Given the description of an element on the screen output the (x, y) to click on. 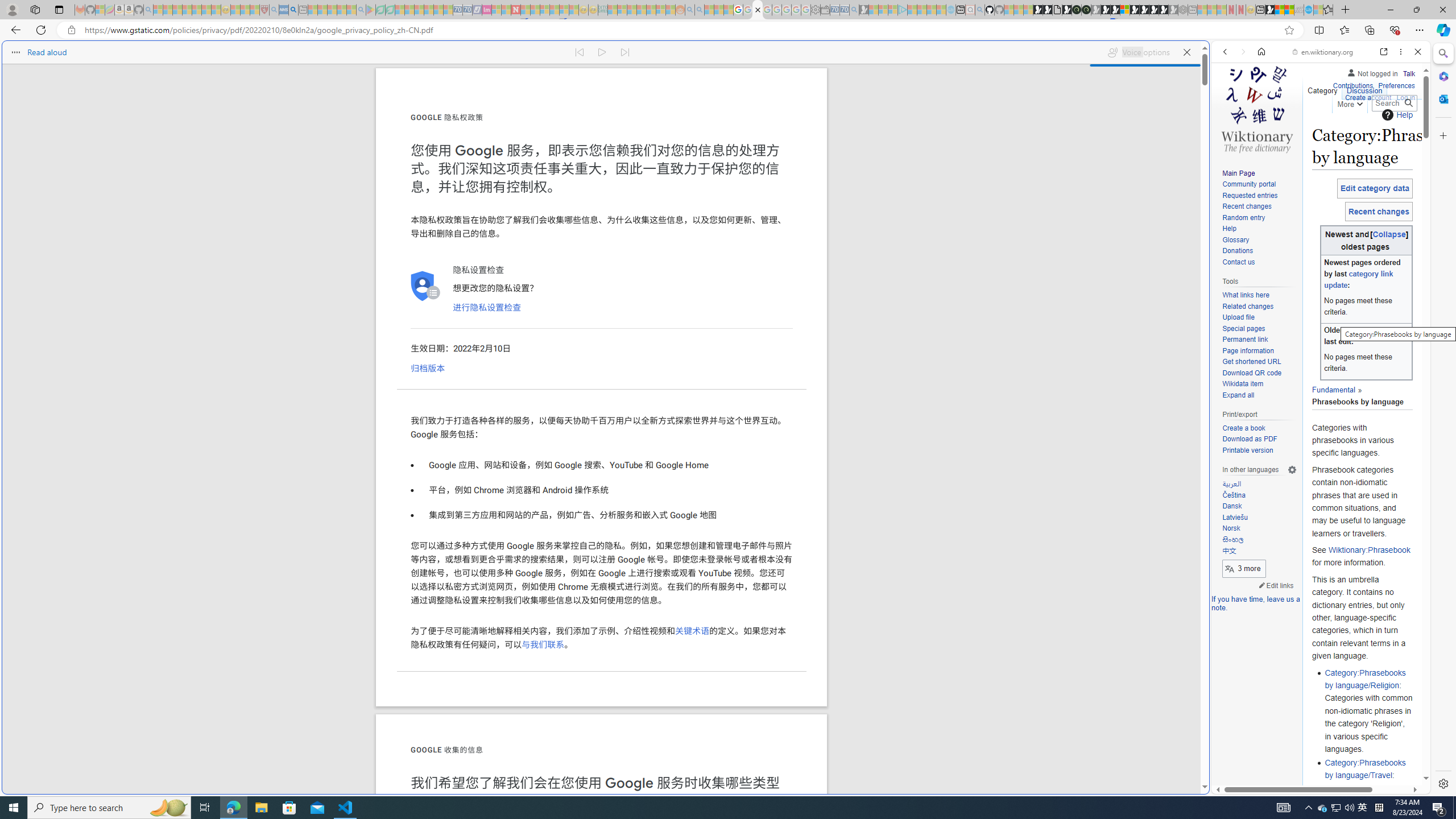
Download as PDF (1259, 439)
